Given the description of an element on the screen output the (x, y) to click on. 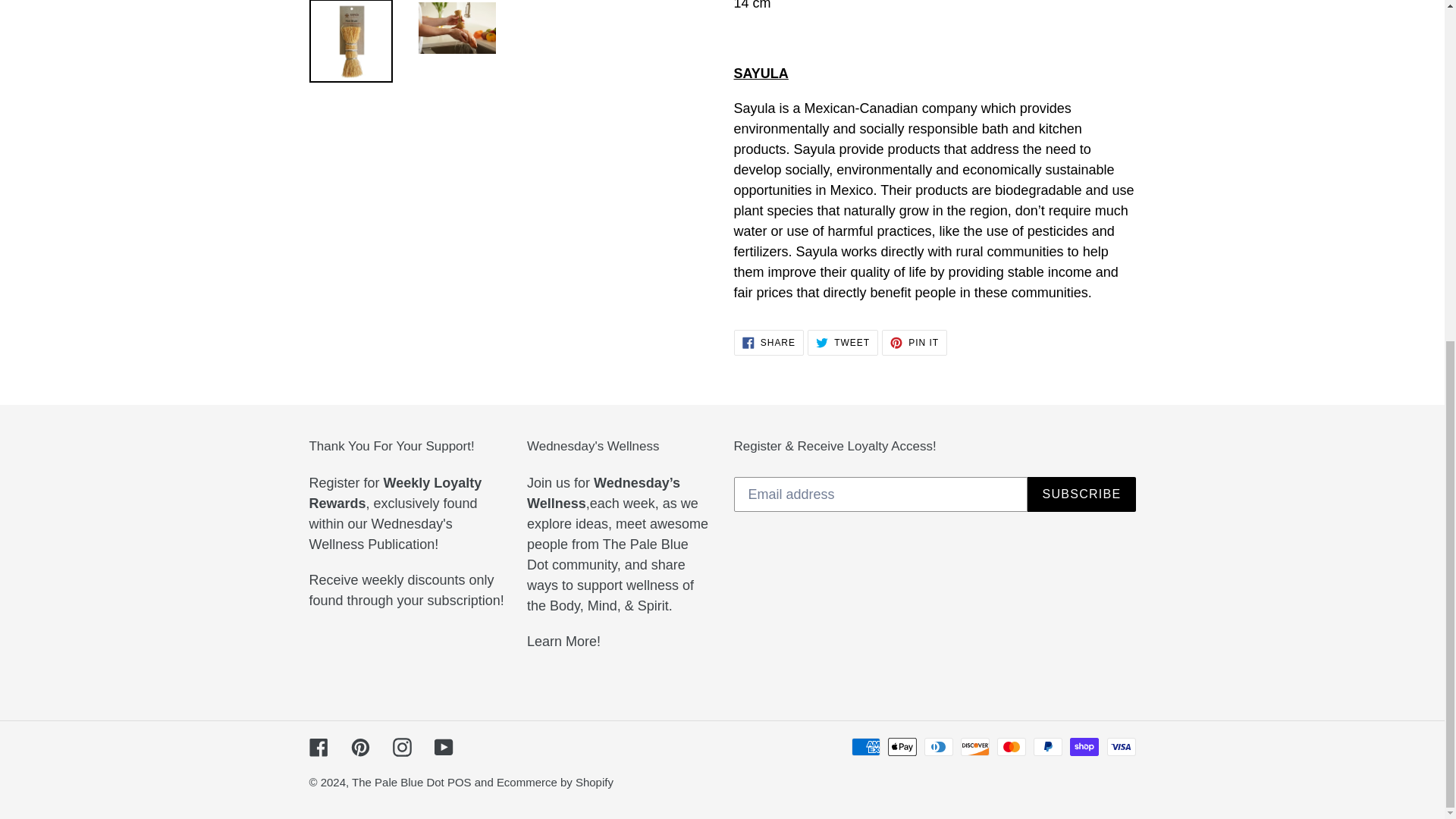
Wednesday's Wellness (563, 641)
